Given the description of an element on the screen output the (x, y) to click on. 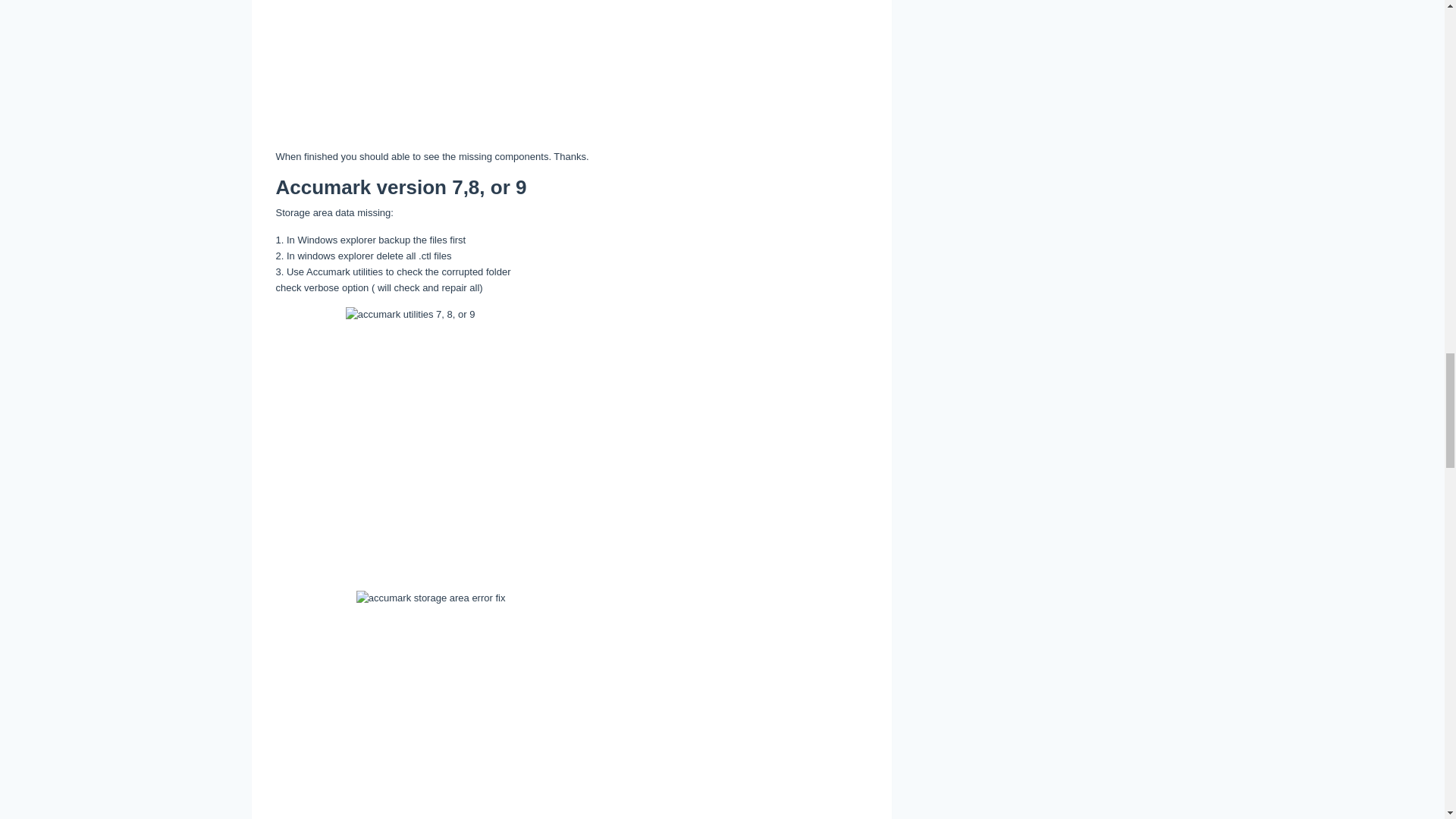
How to Repair Storage Area Missing on Accumark 7 (571, 699)
How to Repair Storage Area Missing on Accumark 5 (571, 67)
How to Repair Storage Area Missing on Accumark 6 (571, 441)
